Given the description of an element on the screen output the (x, y) to click on. 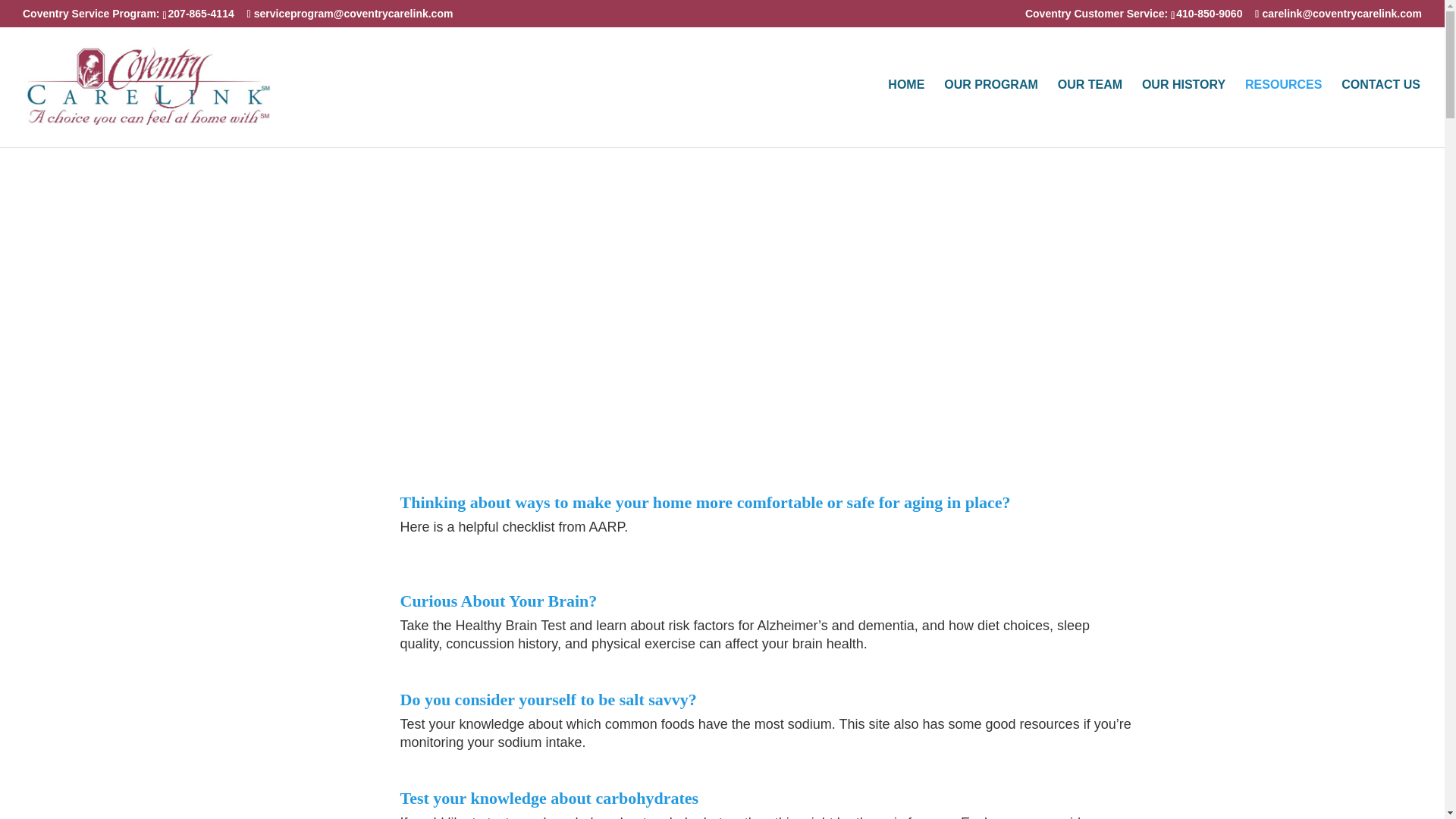
CONTACT US (1380, 113)
Curious About Your Brain? (498, 600)
OUR PROGRAM (990, 113)
OUR TEAM (1090, 113)
Do you consider yourself to be salt savvy? (548, 699)
RESOURCES (1283, 113)
OUR HISTORY (1183, 113)
Test your knowledge about carbohydrates (549, 797)
